Given the description of an element on the screen output the (x, y) to click on. 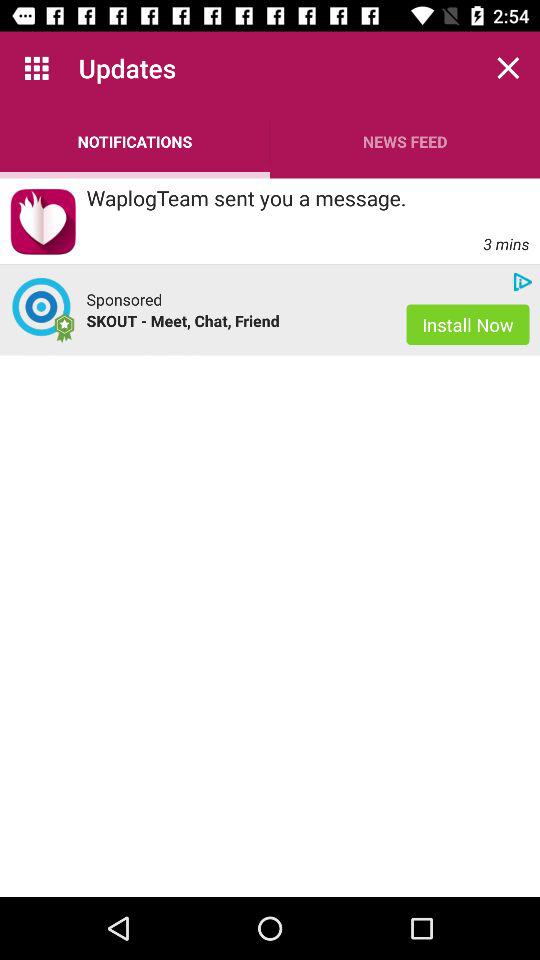
tap notifications app (135, 141)
